Given the description of an element on the screen output the (x, y) to click on. 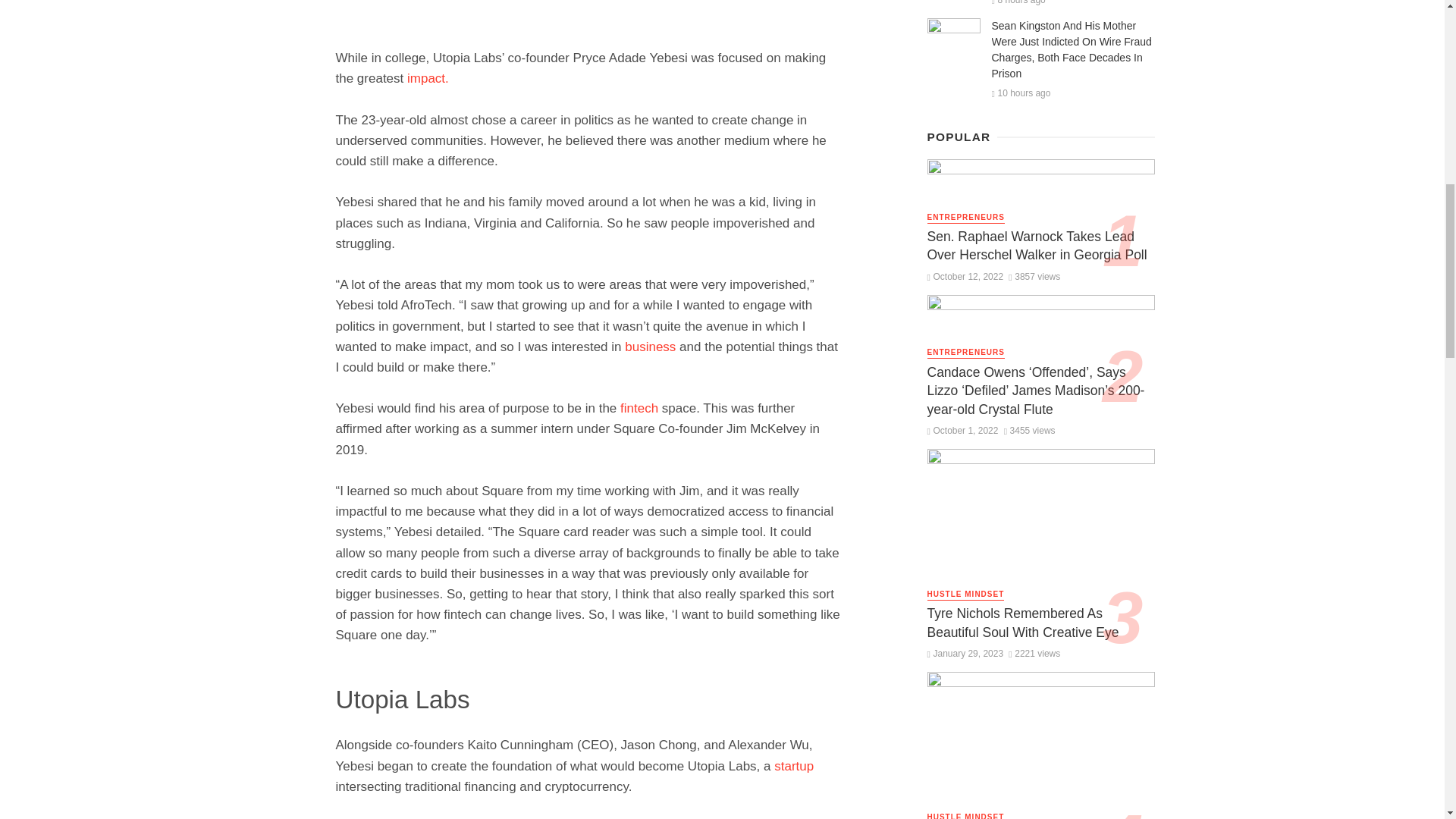
fintech (639, 408)
startup (793, 766)
impact. (427, 78)
business (649, 346)
